Given the description of an element on the screen output the (x, y) to click on. 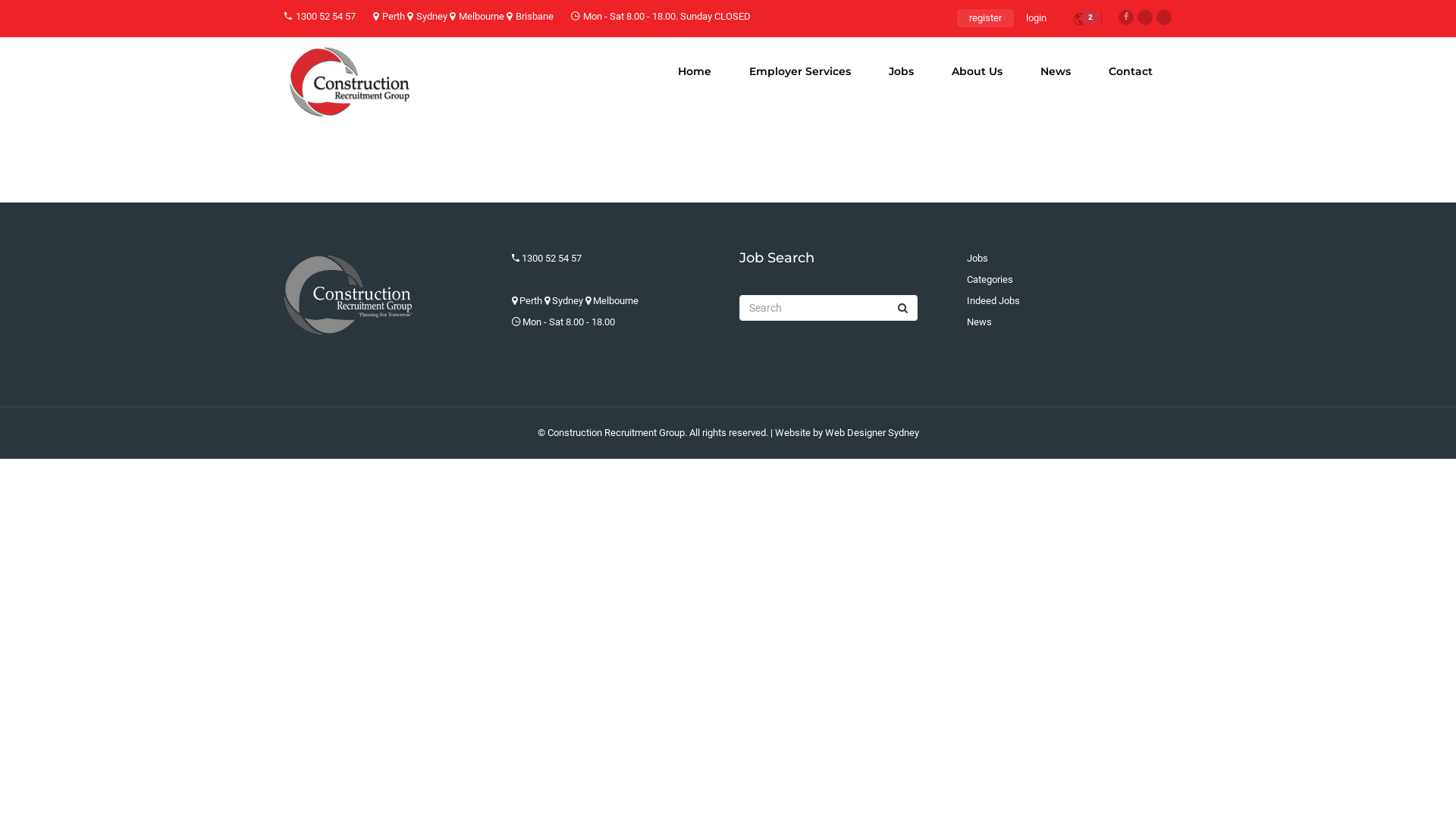
login Element type: text (1035, 18)
Categories Element type: text (989, 279)
Contact Element type: text (1130, 71)
Employer Services Element type: text (799, 71)
Indeed Jobs Element type: text (992, 300)
register Element type: text (985, 18)
News Element type: text (978, 321)
Facebook Element type: hover (1125, 17)
Linkedin Element type: hover (1163, 17)
Web Designer Sydney Element type: text (872, 432)
News Element type: text (1055, 71)
Home Element type: text (694, 71)
Jobs Element type: text (900, 71)
About Us Element type: text (976, 71)
Jobs Element type: text (977, 257)
1300 52 54 57 Element type: text (551, 257)
Twitter Element type: hover (1144, 17)
2 Element type: text (1079, 21)
